Given the description of an element on the screen output the (x, y) to click on. 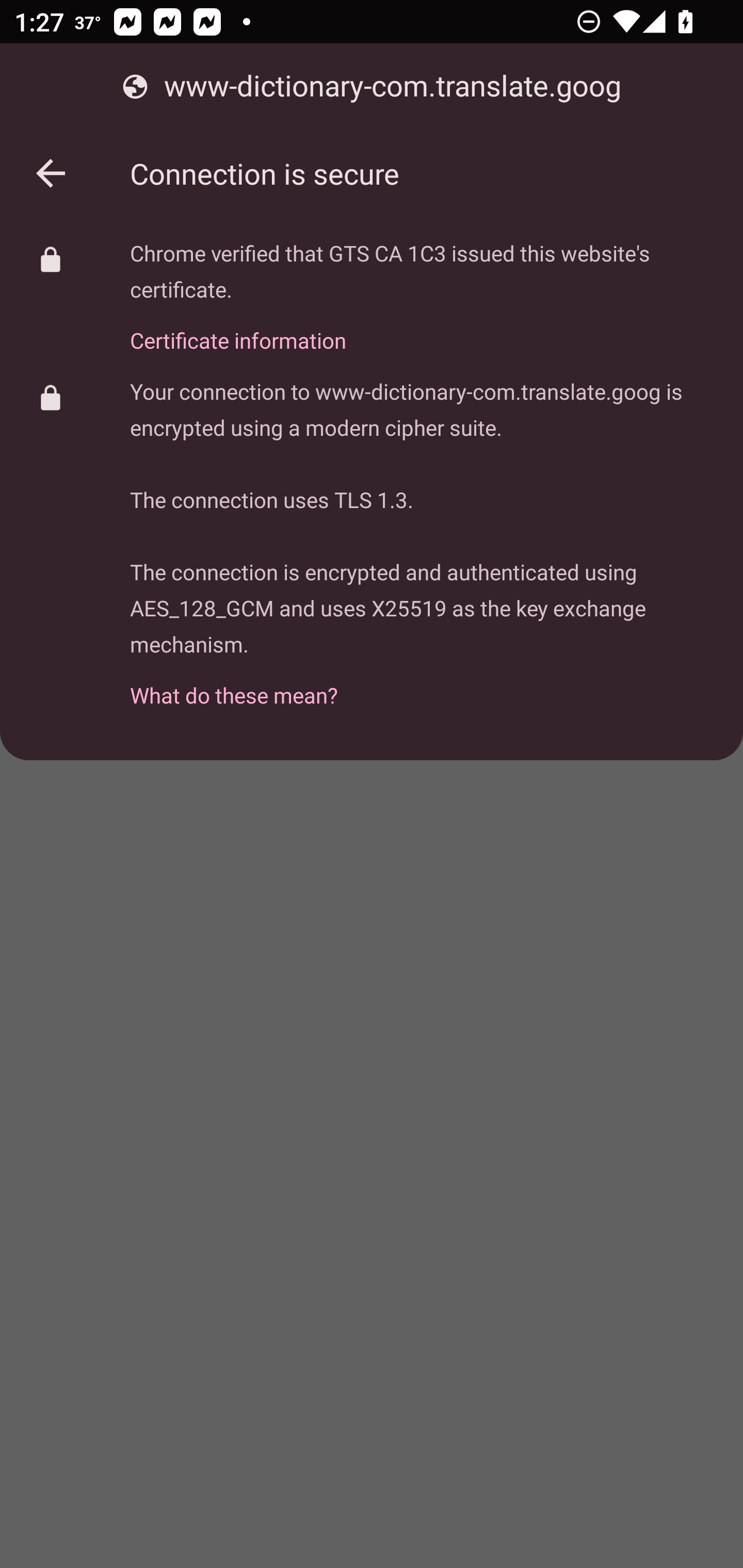
www-dictionary-com.translate.goog (371, 86)
Back (50, 173)
Certificate information (422, 329)
What do these mean? (422, 684)
